Given the description of an element on the screen output the (x, y) to click on. 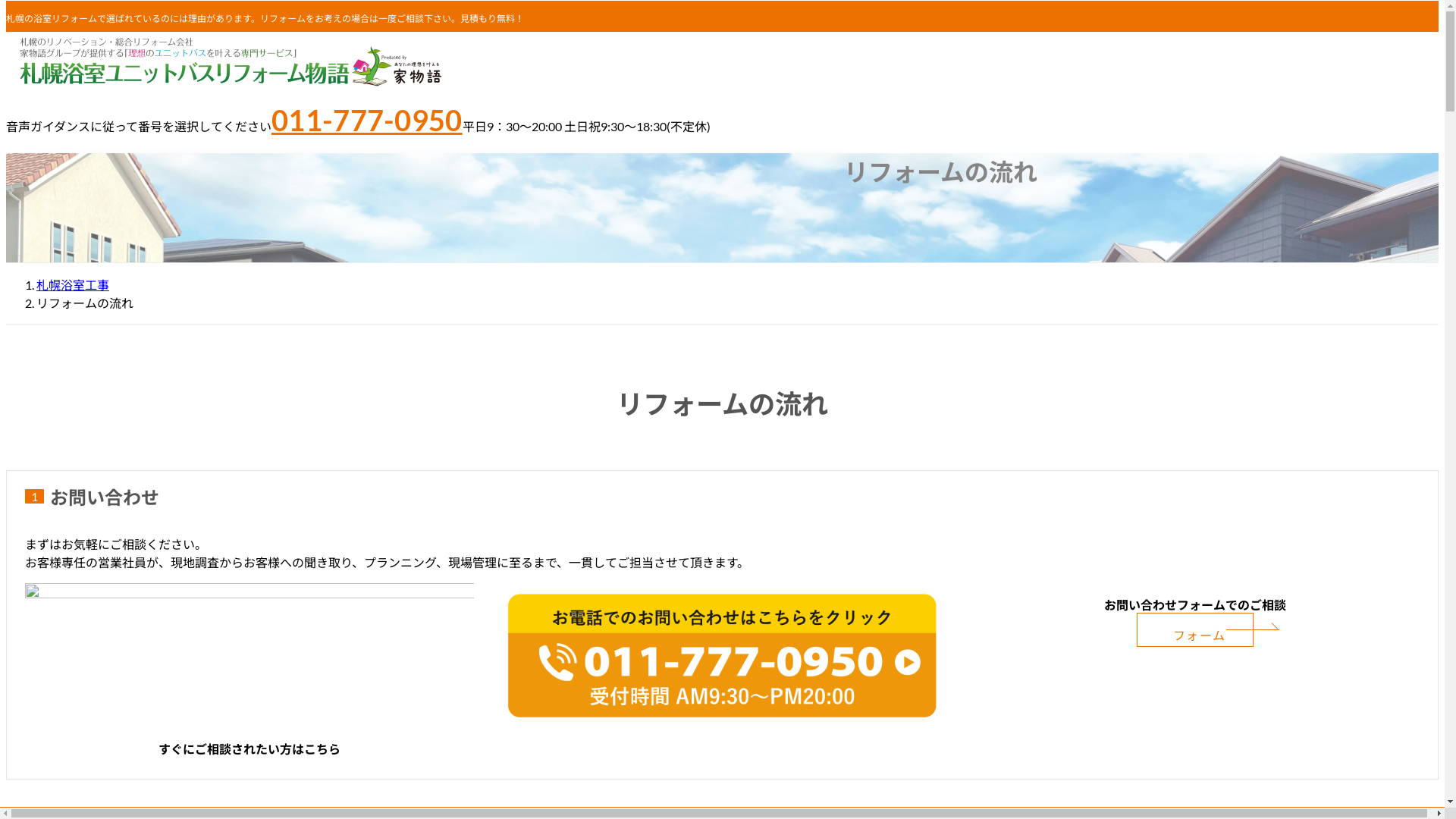
011-777-0950 Element type: text (366, 119)
